Given the description of an element on the screen output the (x, y) to click on. 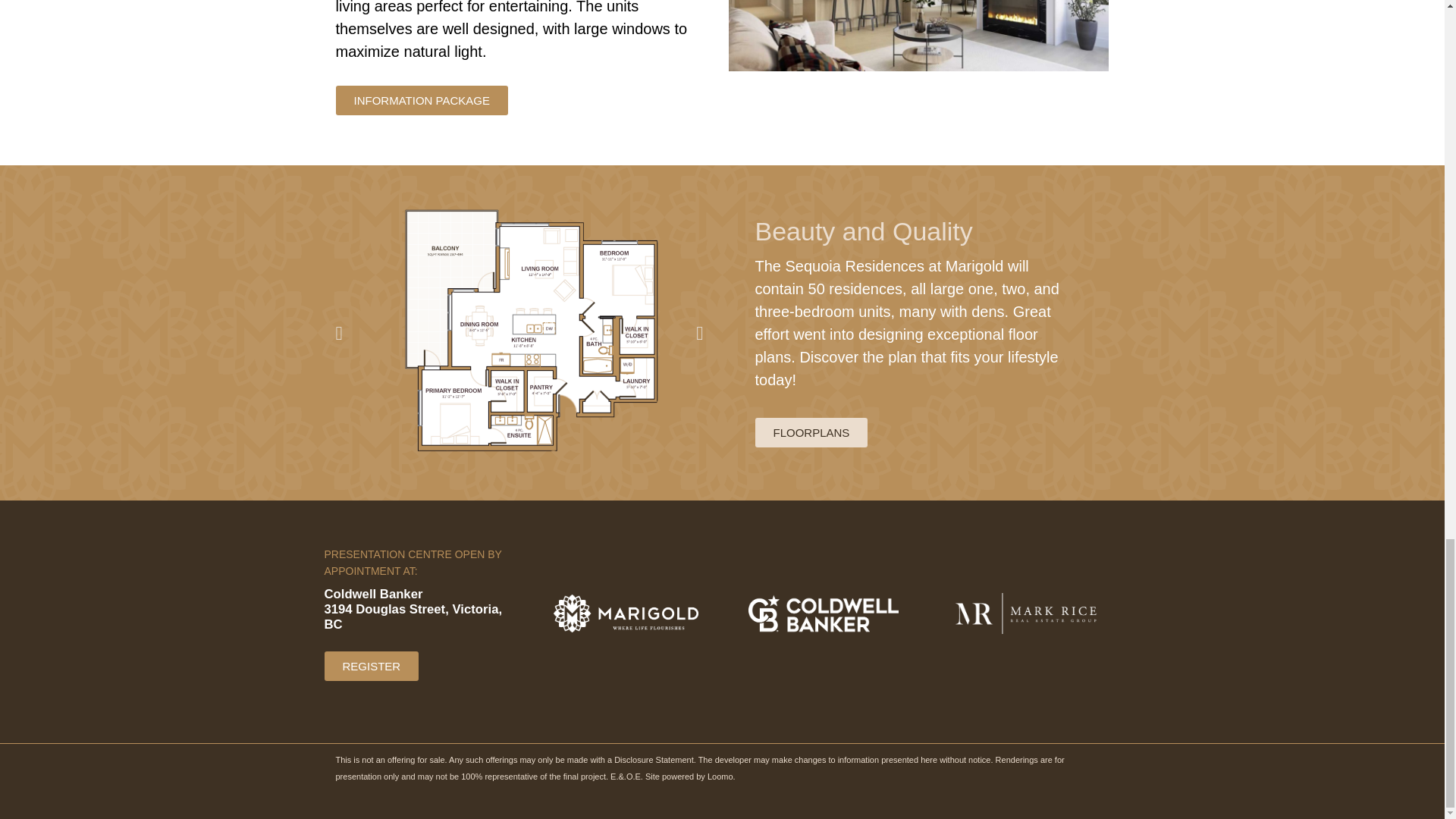
Loomo (720, 776)
FLOORPLANS (811, 432)
INFORMATION PACKAGE (420, 100)
REGISTER (371, 665)
